Given the description of an element on the screen output the (x, y) to click on. 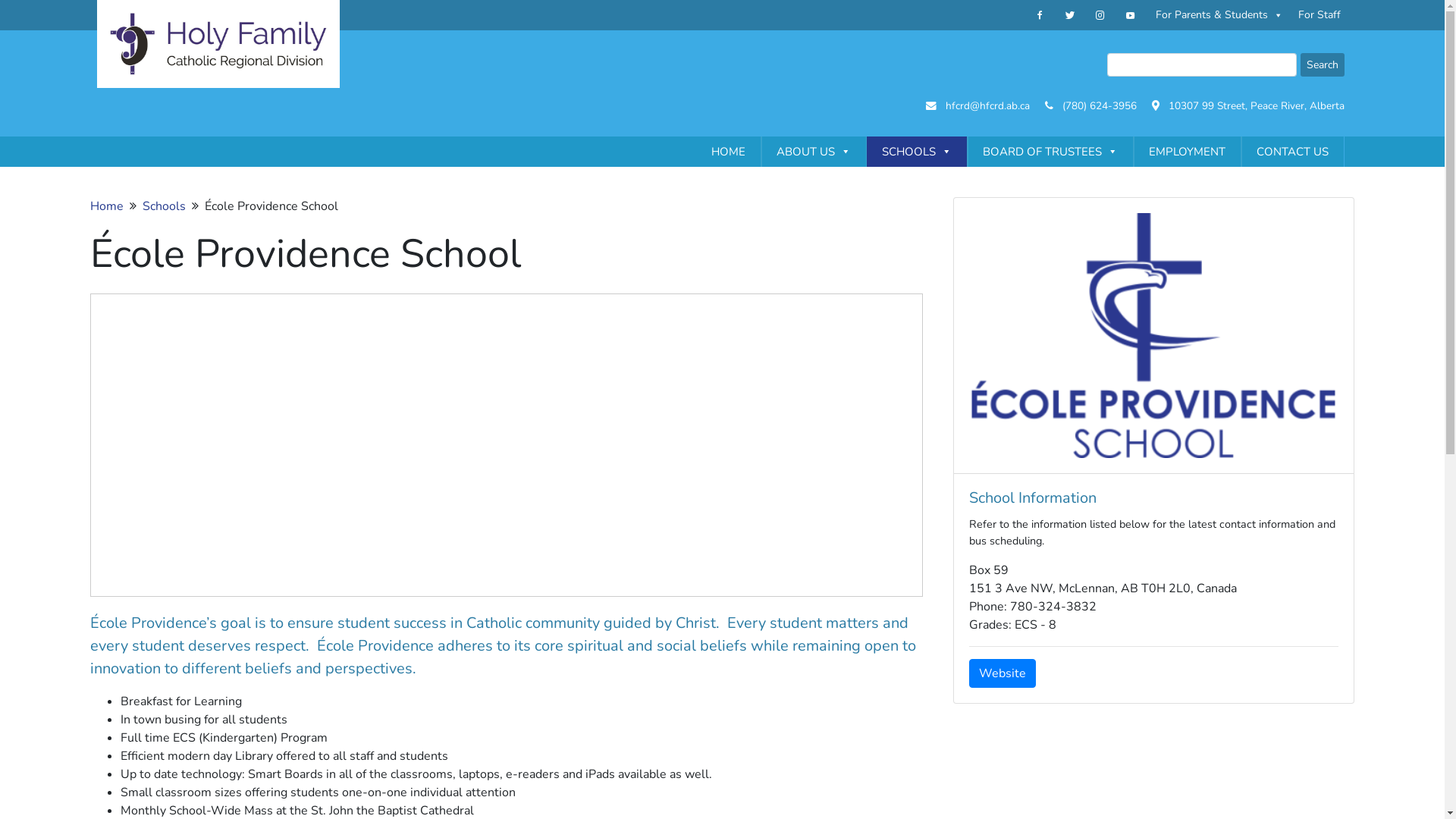
Website Element type: text (1002, 672)
ABOUT US Element type: text (813, 151)
HOME Element type: text (728, 151)
CONTACT US Element type: text (1291, 151)
SCHOOLS Element type: text (916, 151)
BOARD OF TRUSTEES Element type: text (1049, 151)
Home Element type: text (106, 205)
For Parents & Students Element type: text (1219, 15)
Schools Element type: text (163, 205)
10307 99 Street, Peace River, Alberta Element type: text (1255, 105)
For Staff Element type: text (1319, 15)
EMPLOYMENT Element type: text (1185, 151)
Search Element type: text (1321, 64)
